Given the description of an element on the screen output the (x, y) to click on. 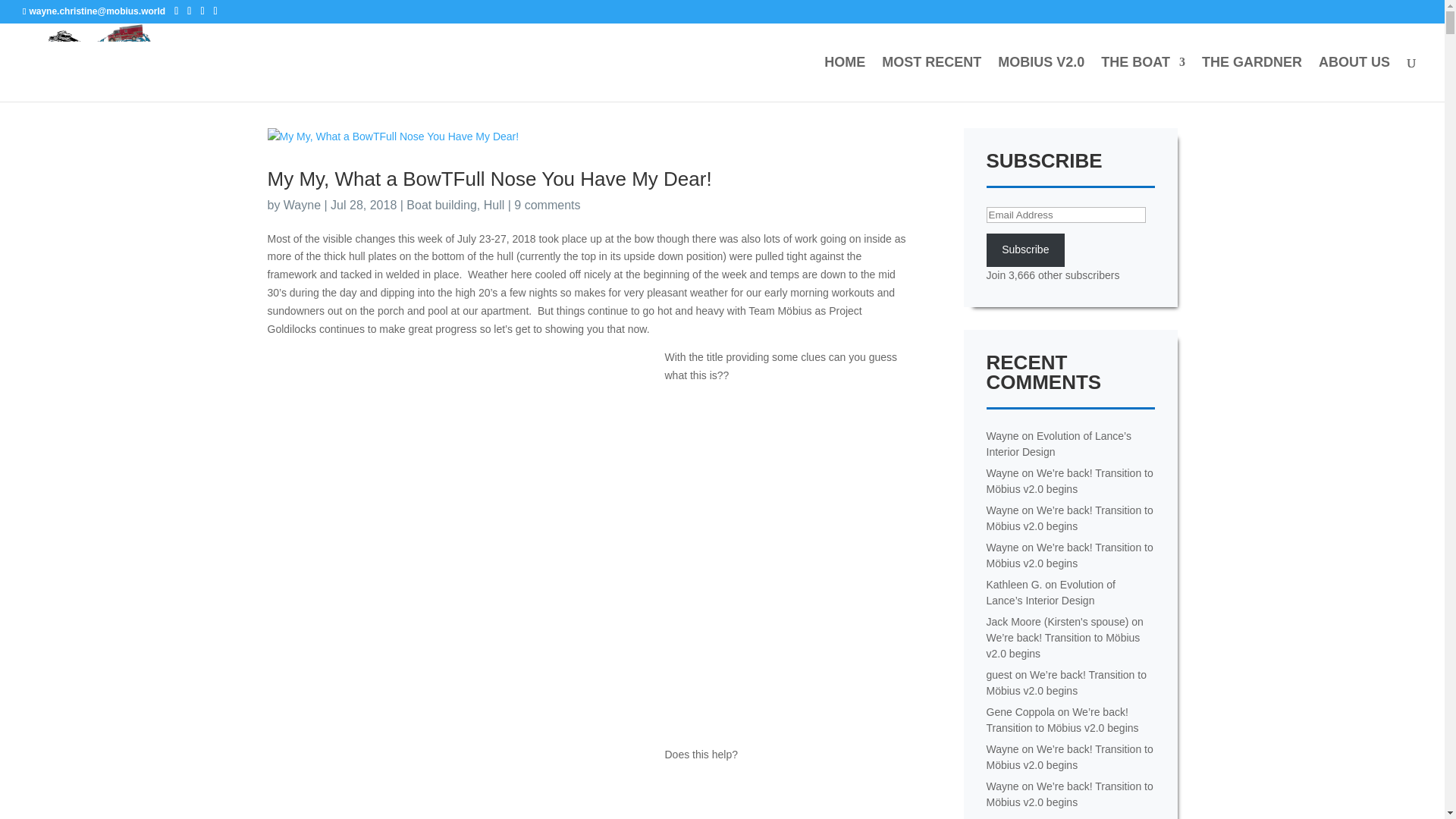
Wayne (301, 205)
HOME (844, 78)
Hull (494, 205)
Boat building (441, 205)
ABOUT US (1354, 78)
My My, What a BowTFull Nose You Have My Dear! (488, 178)
MOBIUS V2.0 (1040, 78)
Posts by Wayne (301, 205)
THE GARDNER (1251, 78)
THE BOAT (1142, 78)
9 comments (546, 205)
MOST RECENT (931, 78)
